Given the description of an element on the screen output the (x, y) to click on. 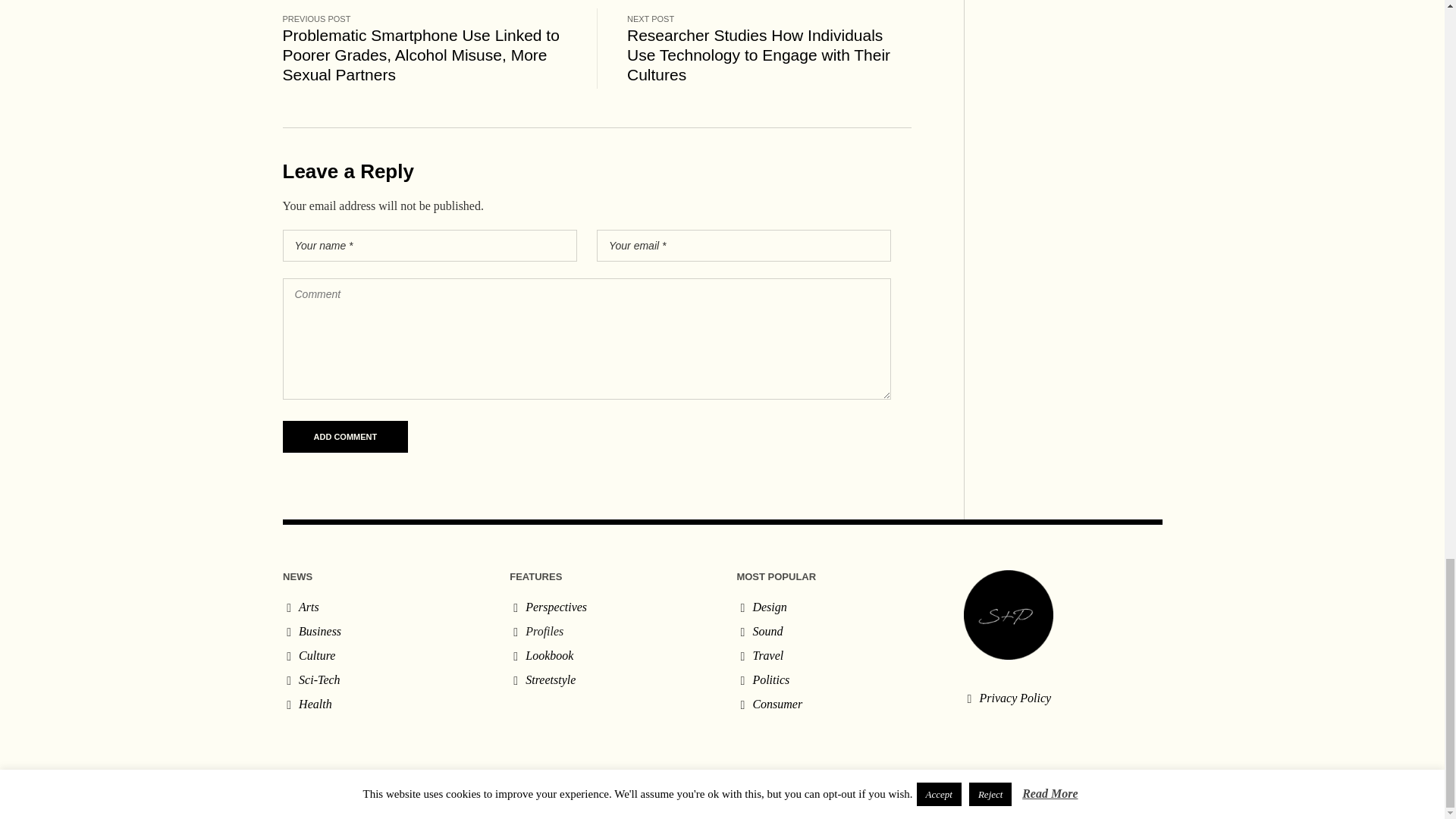
Add Comment (344, 436)
Add Comment (344, 436)
Instagram (1149, 800)
